Given the description of an element on the screen output the (x, y) to click on. 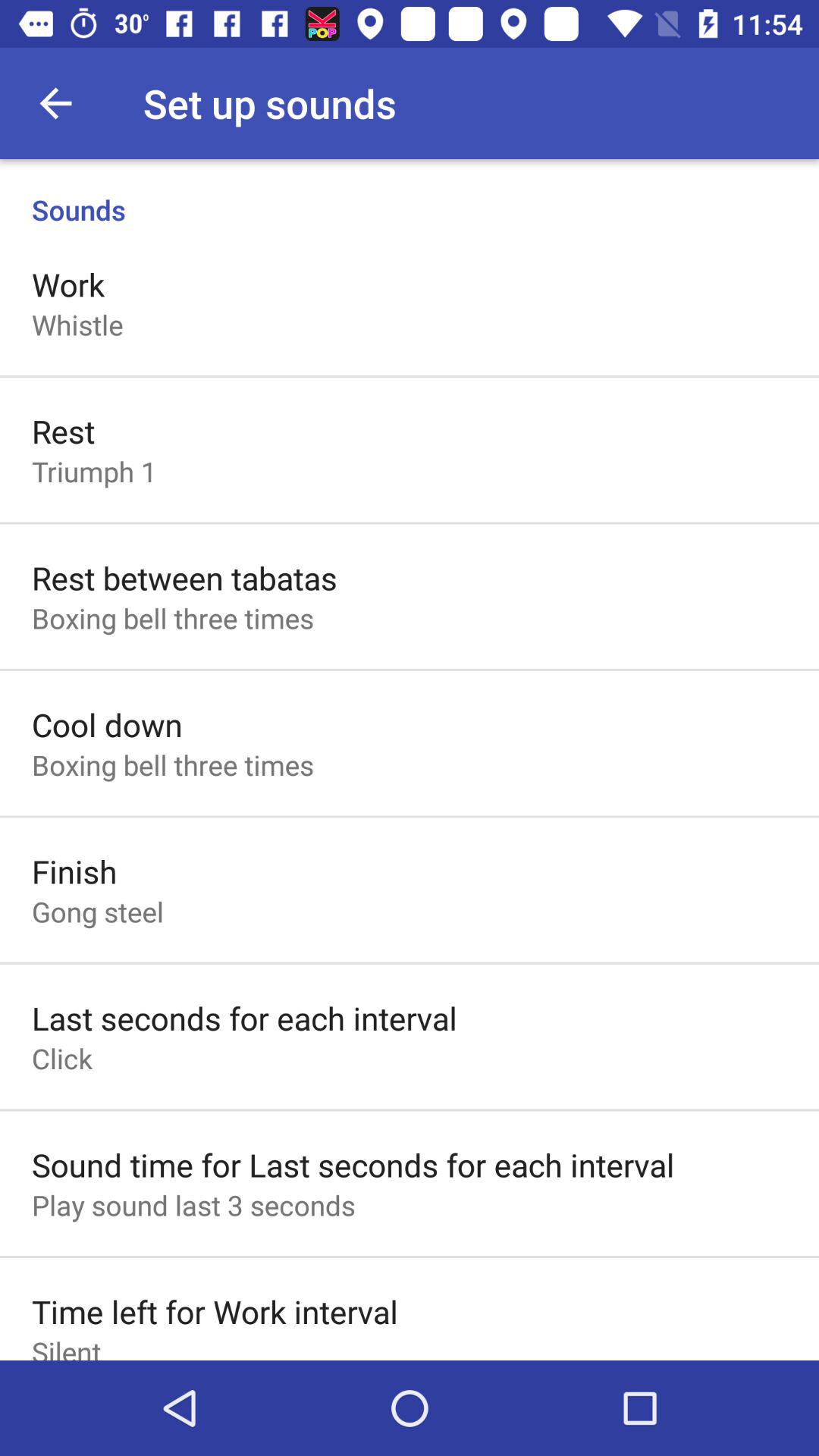
tap item above sounds icon (55, 103)
